Given the description of an element on the screen output the (x, y) to click on. 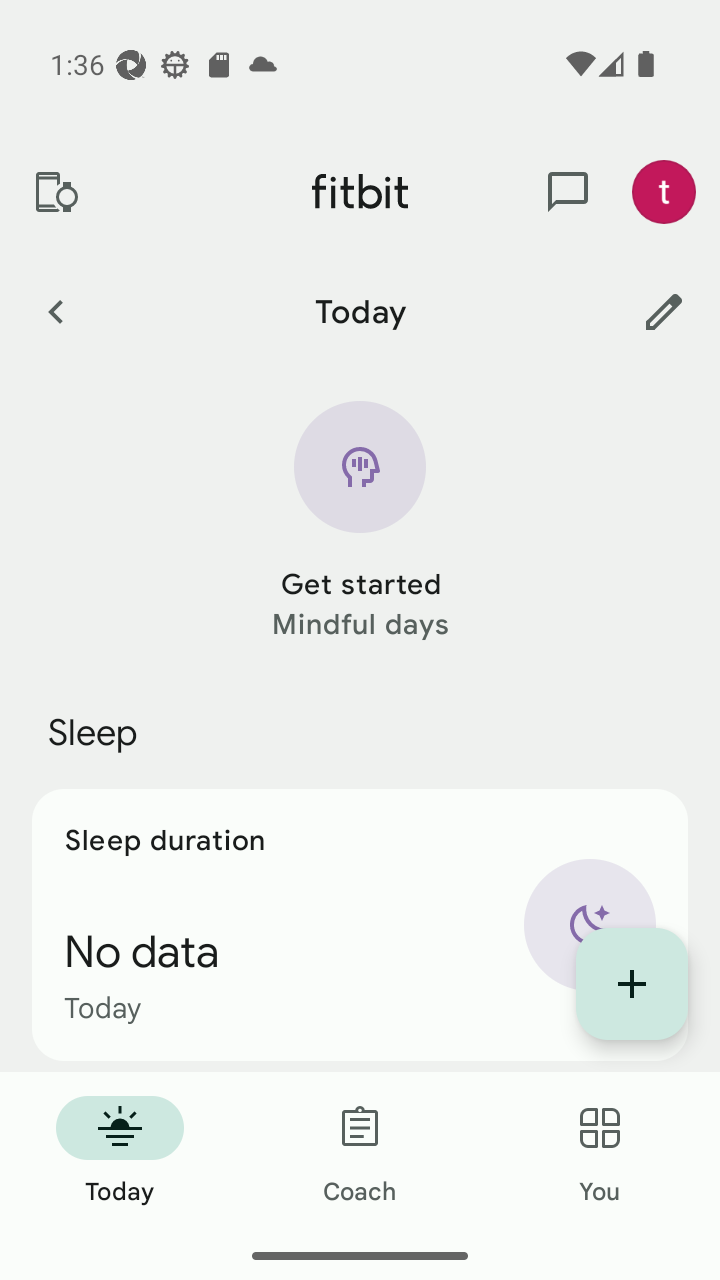
Devices and apps (55, 191)
messages and notifications (567, 191)
Previous Day (55, 311)
Customize (664, 311)
Mindfulness icon Get started Mindful days (360, 522)
Sleep duration No data Today Sleep static arc (359, 924)
Display list of quick log entries (632, 983)
Coach (359, 1151)
You (600, 1151)
